Given the description of an element on the screen output the (x, y) to click on. 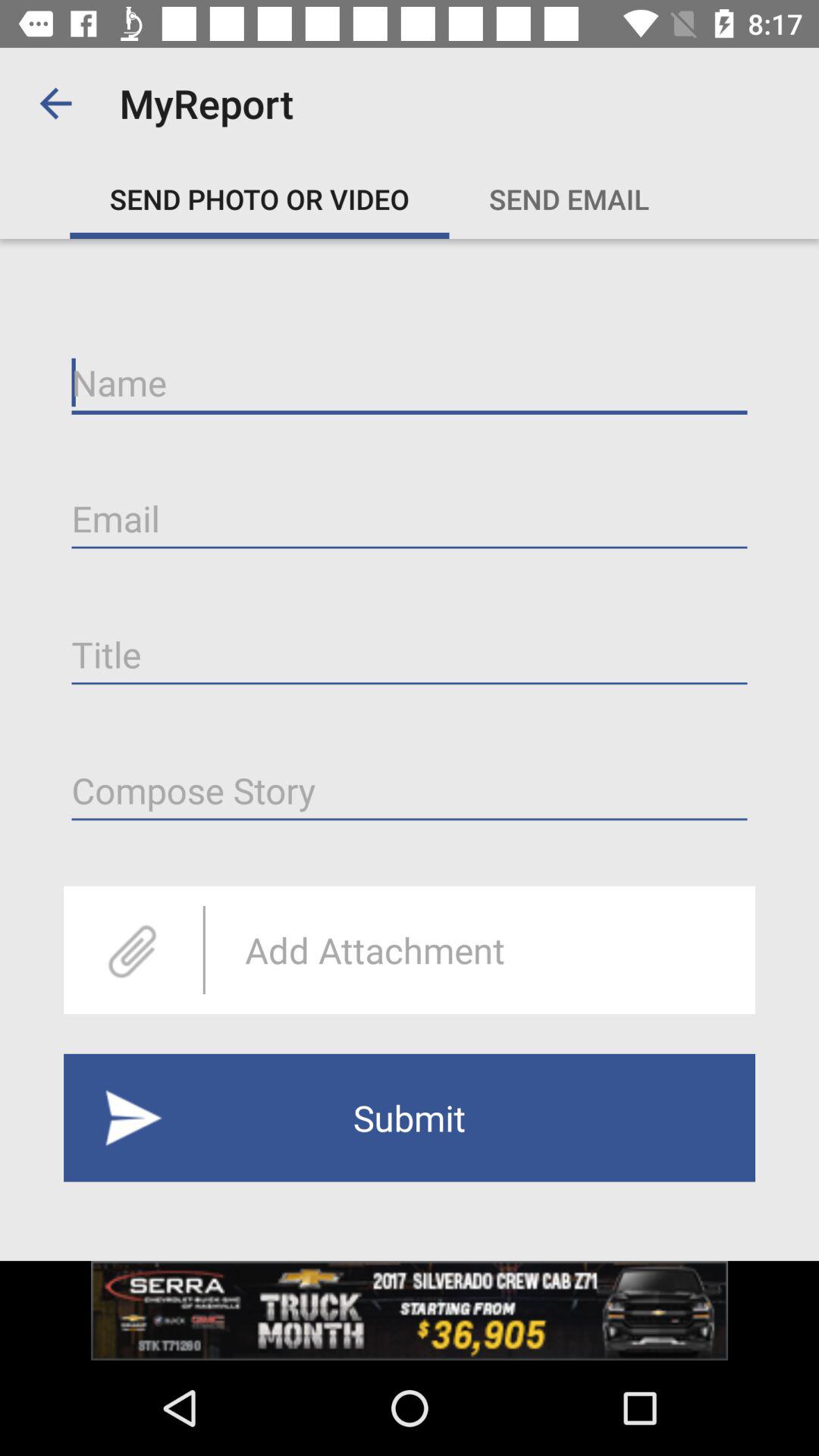
go to advertisement (409, 1310)
